Given the description of an element on the screen output the (x, y) to click on. 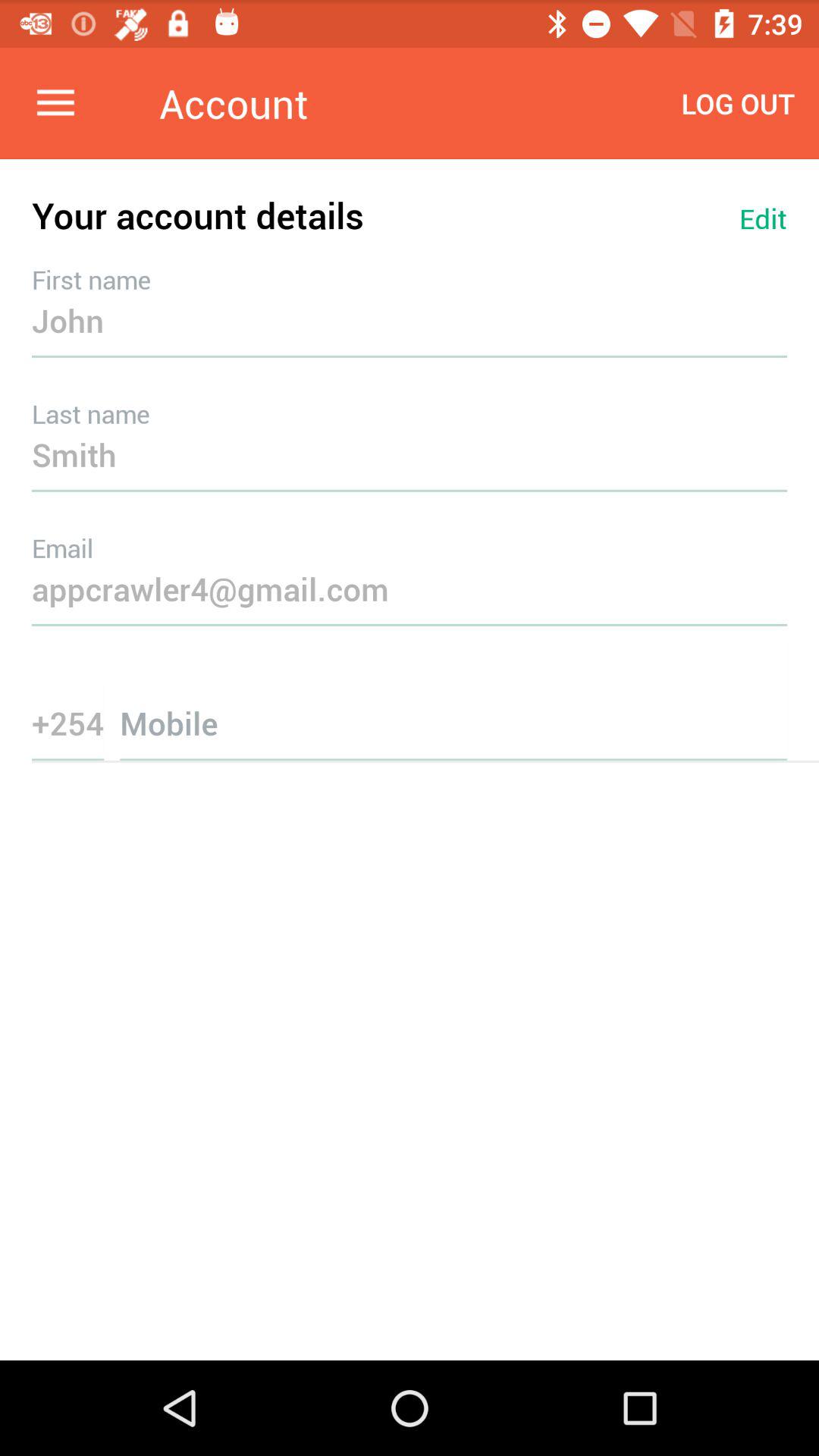
choose the log out icon (738, 103)
